Given the description of an element on the screen output the (x, y) to click on. 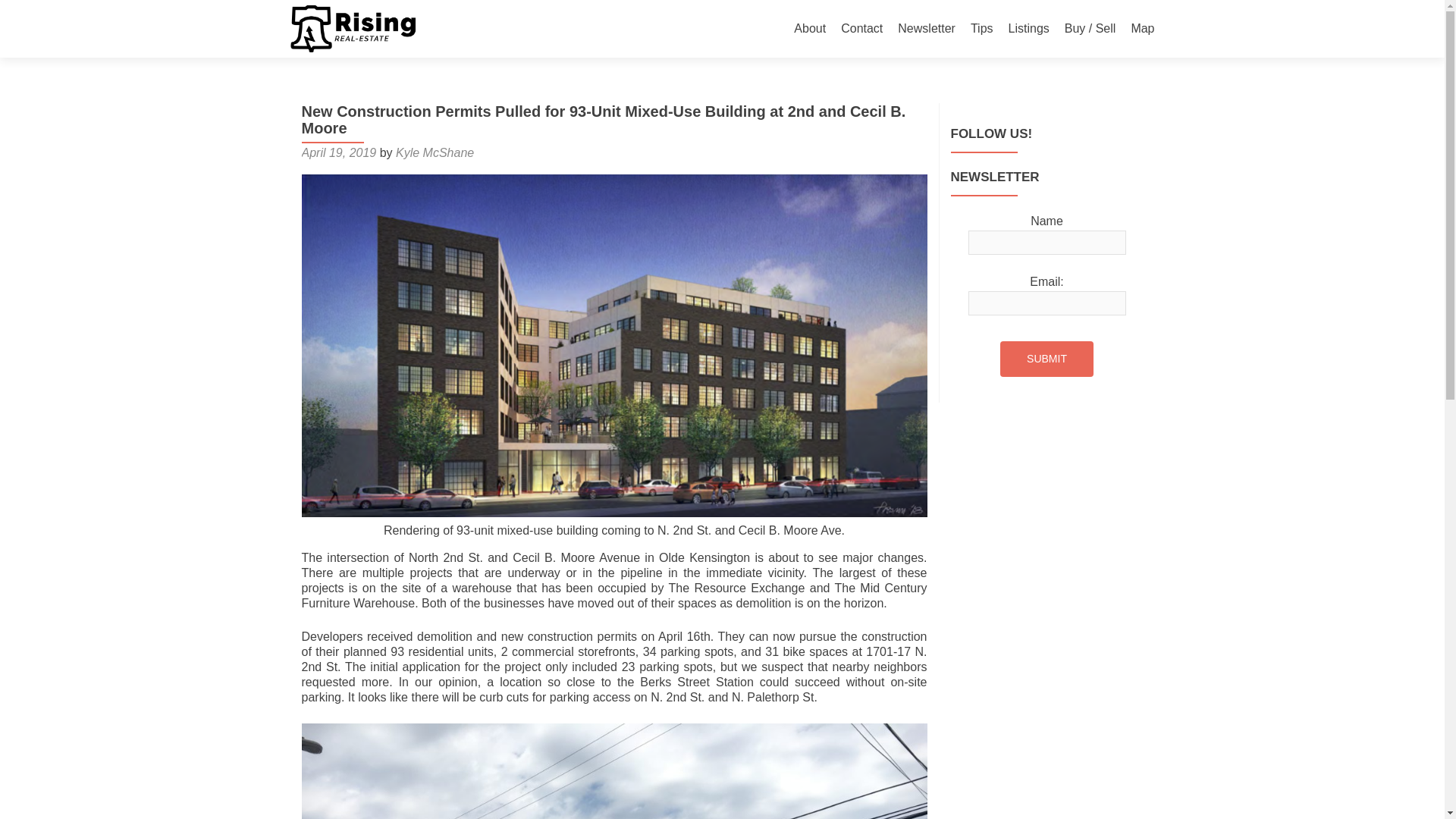
Contact (861, 28)
Listings (1029, 28)
April 19, 2019 (339, 152)
Submit (1046, 358)
Submit (1046, 358)
Newsletter (926, 28)
Kyle McShane (435, 152)
About (809, 28)
